Given the description of an element on the screen output the (x, y) to click on. 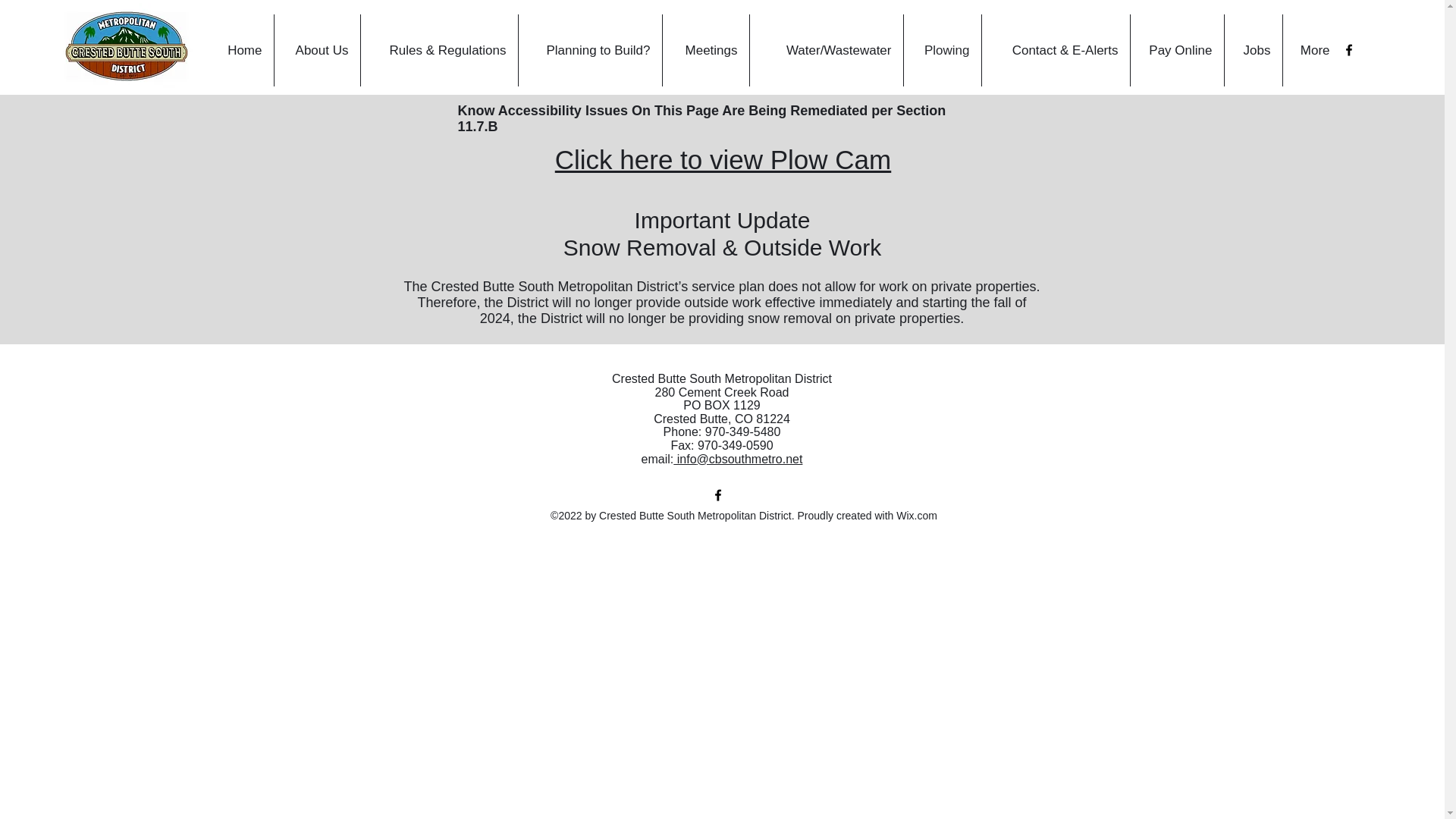
Plowing (942, 50)
Click here to view Plow Cam (722, 159)
Pay Online (1176, 50)
Planning to Build? (590, 50)
